Given the description of an element on the screen output the (x, y) to click on. 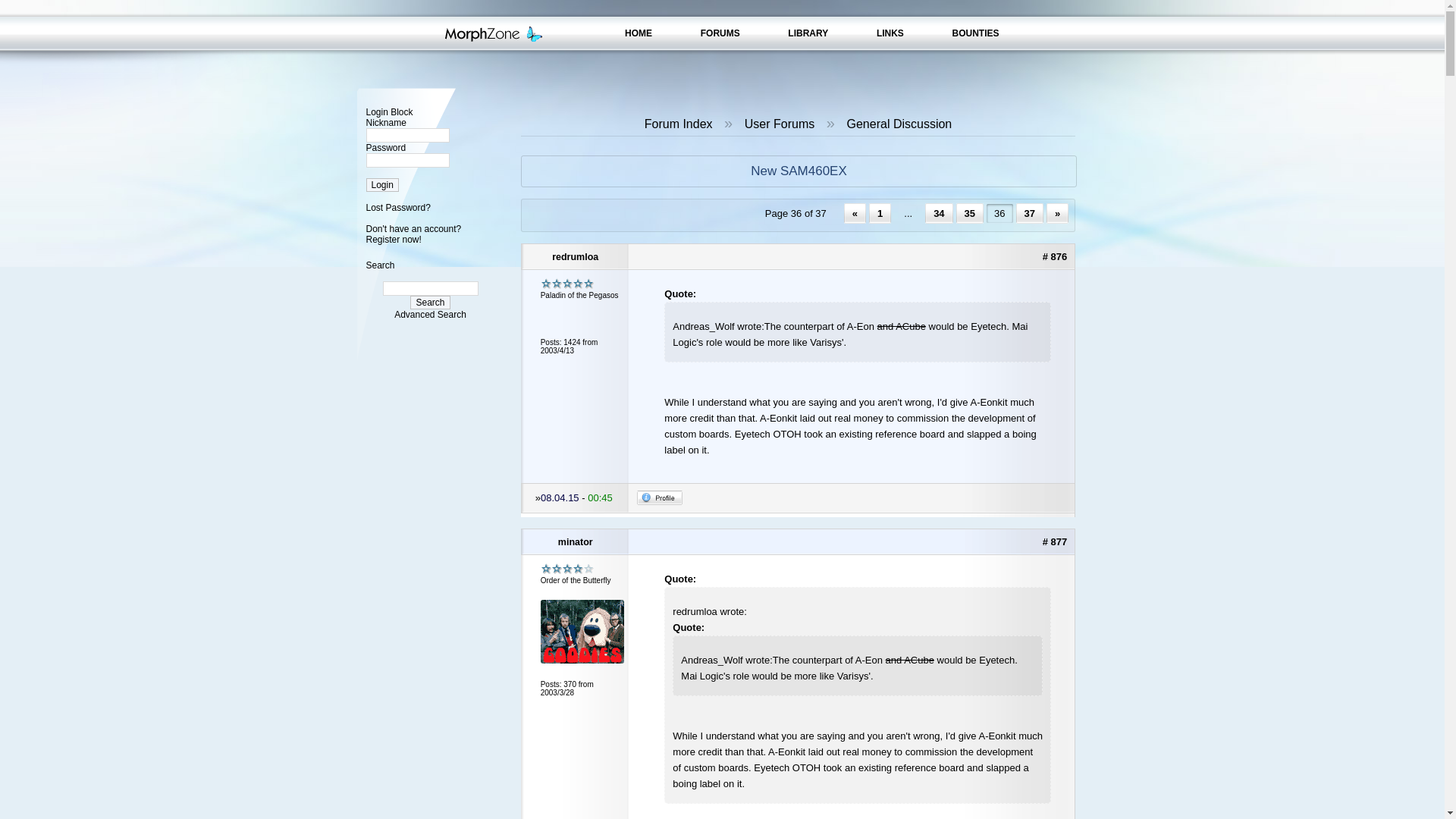
Show alone this post... (1054, 541)
Lost Password? (397, 207)
HOME (638, 32)
redrumloa (575, 257)
Advanced Search (429, 314)
Search (429, 302)
Show alone this post... (1054, 256)
LIBRARY (807, 32)
General Discussion (899, 123)
Paladin of the Pegasos (567, 283)
